Given the description of an element on the screen output the (x, y) to click on. 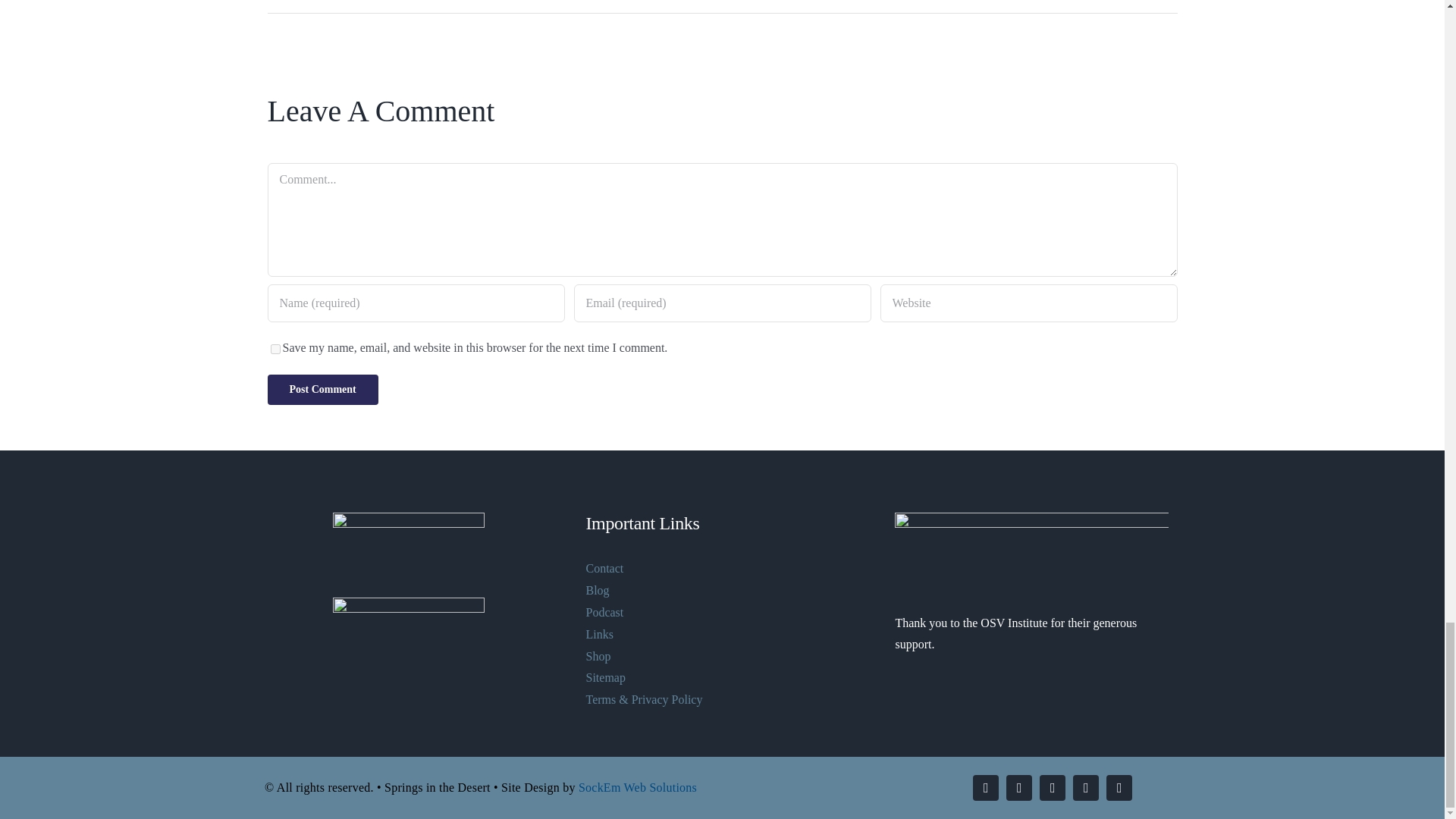
Post Comment (321, 389)
yes (274, 348)
